Given the description of an element on the screen output the (x, y) to click on. 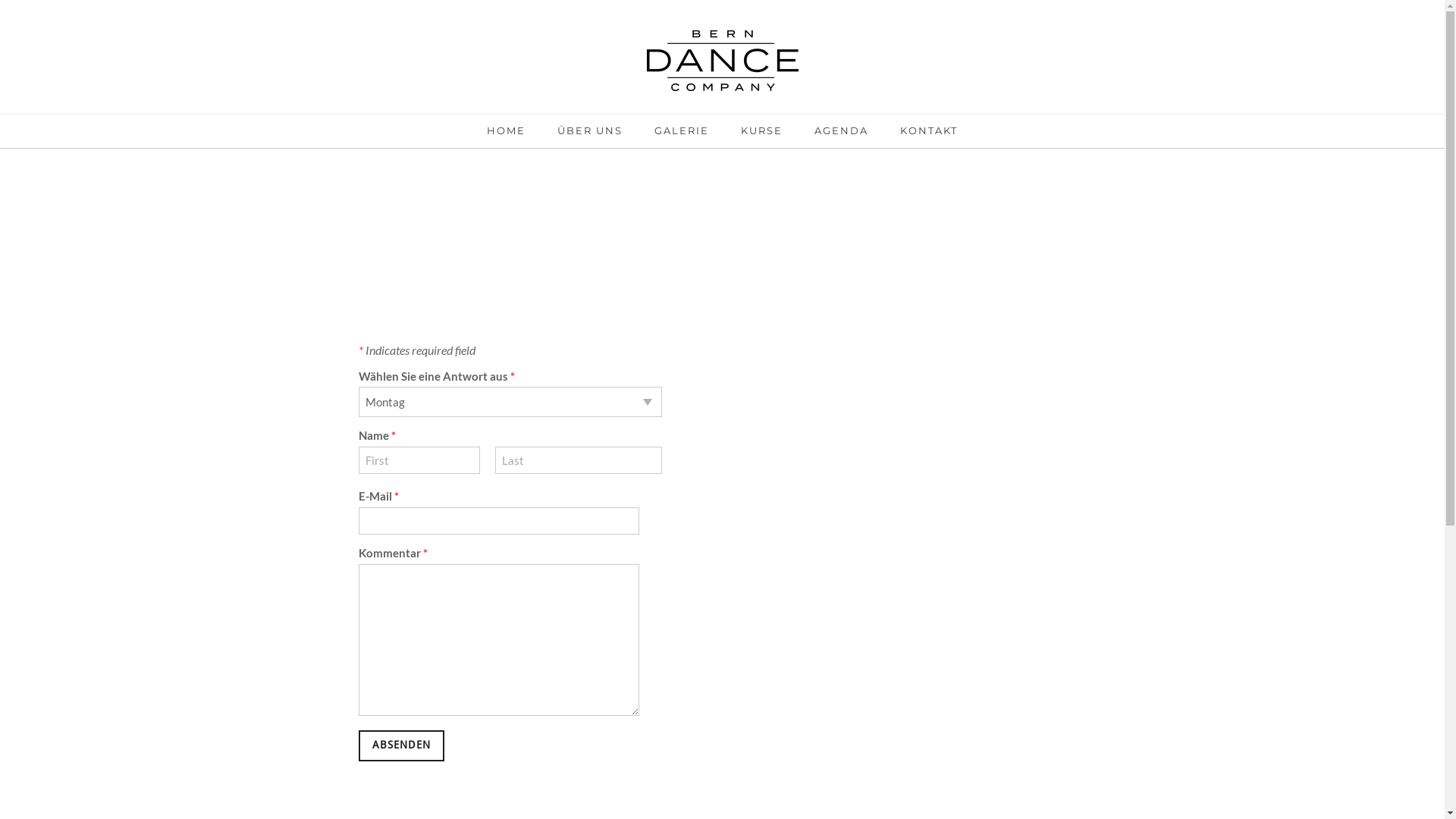
GALERIE Element type: text (681, 135)
KONTAKT Element type: text (928, 135)
AGENDA Element type: text (841, 135)
HOME Element type: text (505, 135)
ABSENDEN Element type: text (400, 745)
KURSE Element type: text (761, 135)
